Given the description of an element on the screen output the (x, y) to click on. 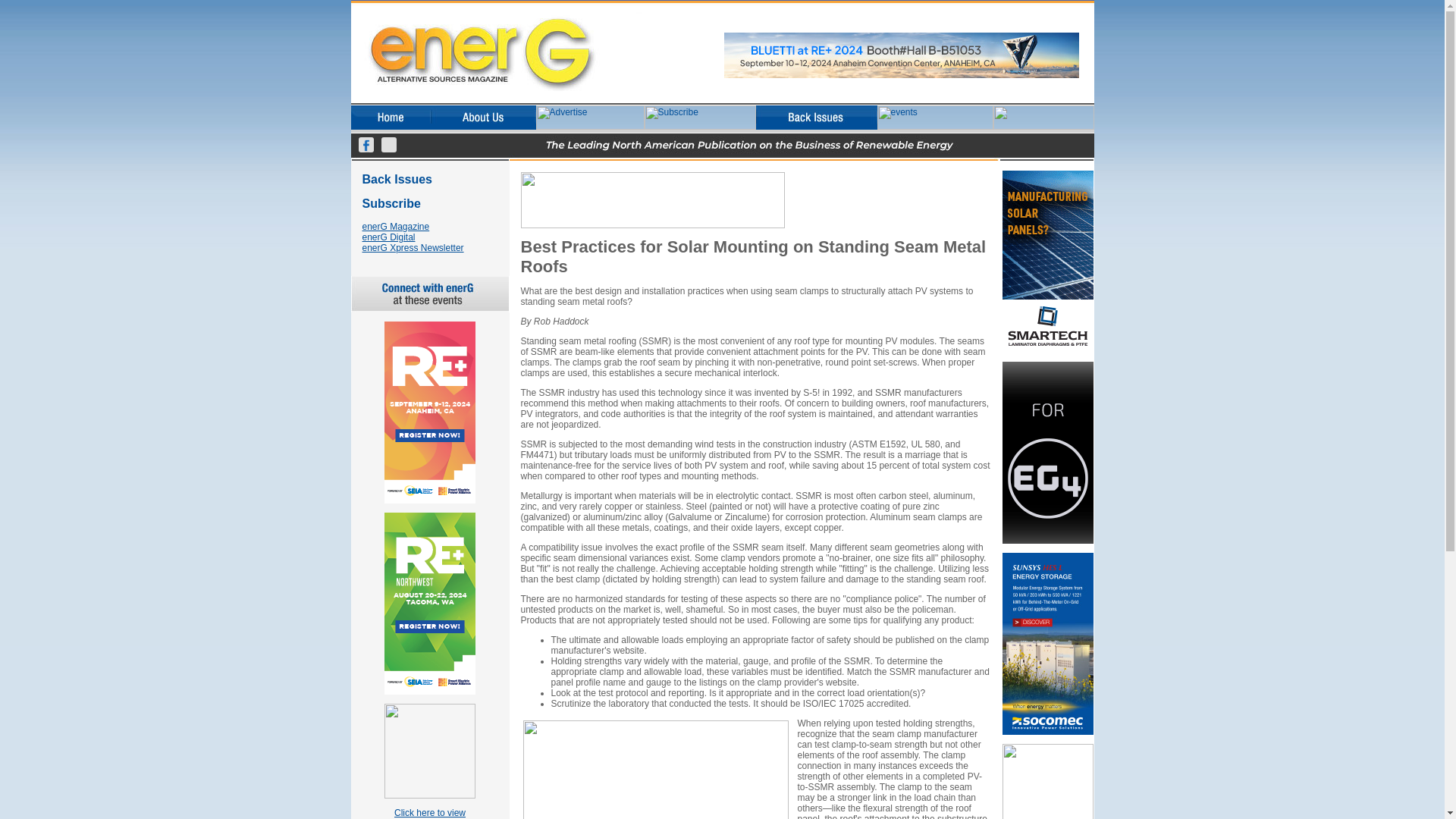
enerG Magazine (395, 226)
Subscribe to enerG Xpress Newsletter (429, 813)
Subscribe (413, 247)
Back Issues (391, 204)
enerG Xpress Newsletter (397, 180)
Back Issues (413, 247)
Subscribe to enerG Magazine (397, 180)
Subscribe to enerG Digital (391, 204)
Subscribe to enerG Magazine (388, 236)
